Given the description of an element on the screen output the (x, y) to click on. 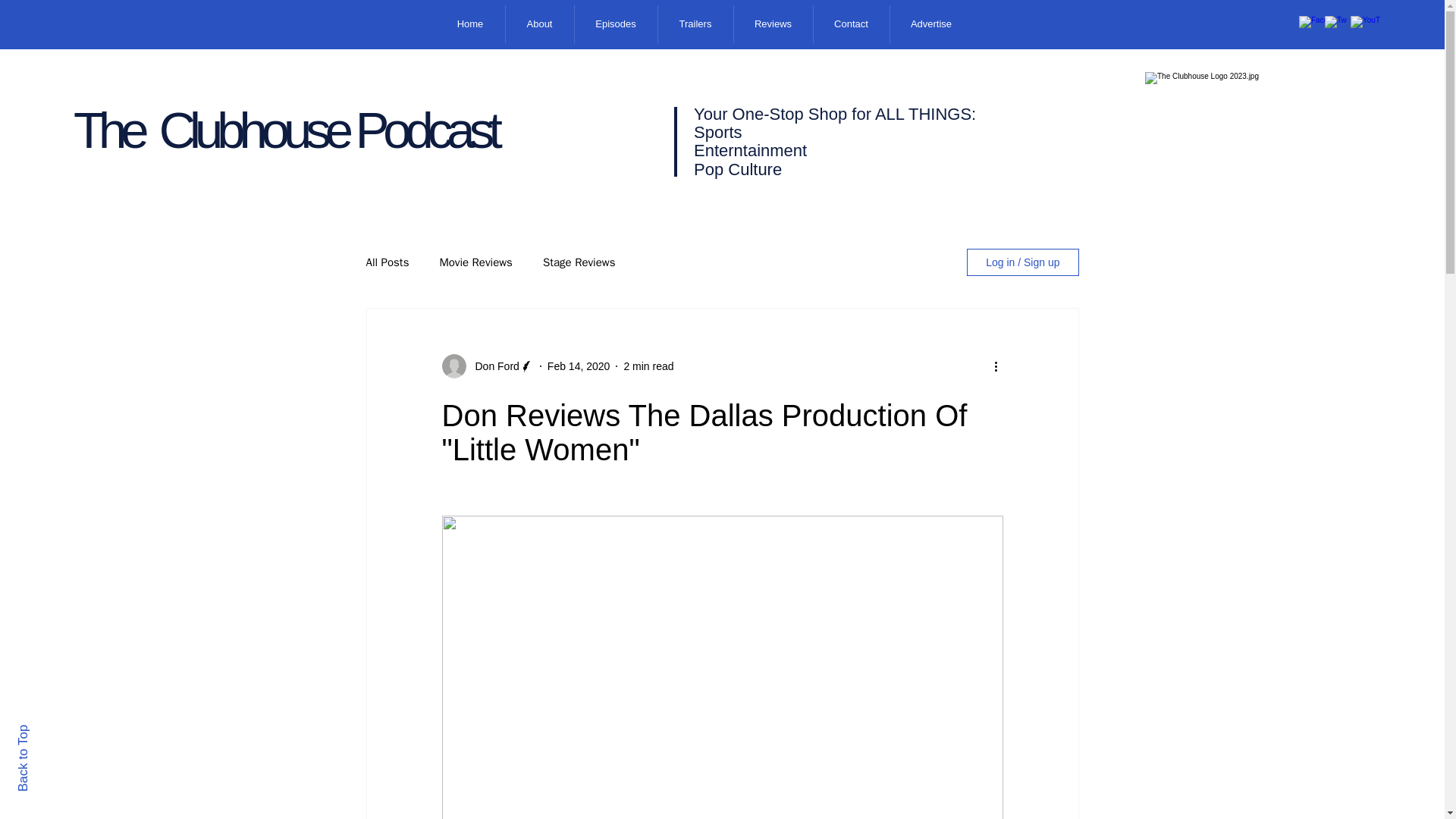
Advertise (930, 23)
Reviews (772, 23)
Episodes (614, 23)
Don Ford (491, 365)
About (539, 23)
2 min read (647, 365)
Trailers (694, 23)
Stage Reviews (579, 261)
Contact (850, 23)
Feb 14, 2020 (578, 365)
